Given the description of an element on the screen output the (x, y) to click on. 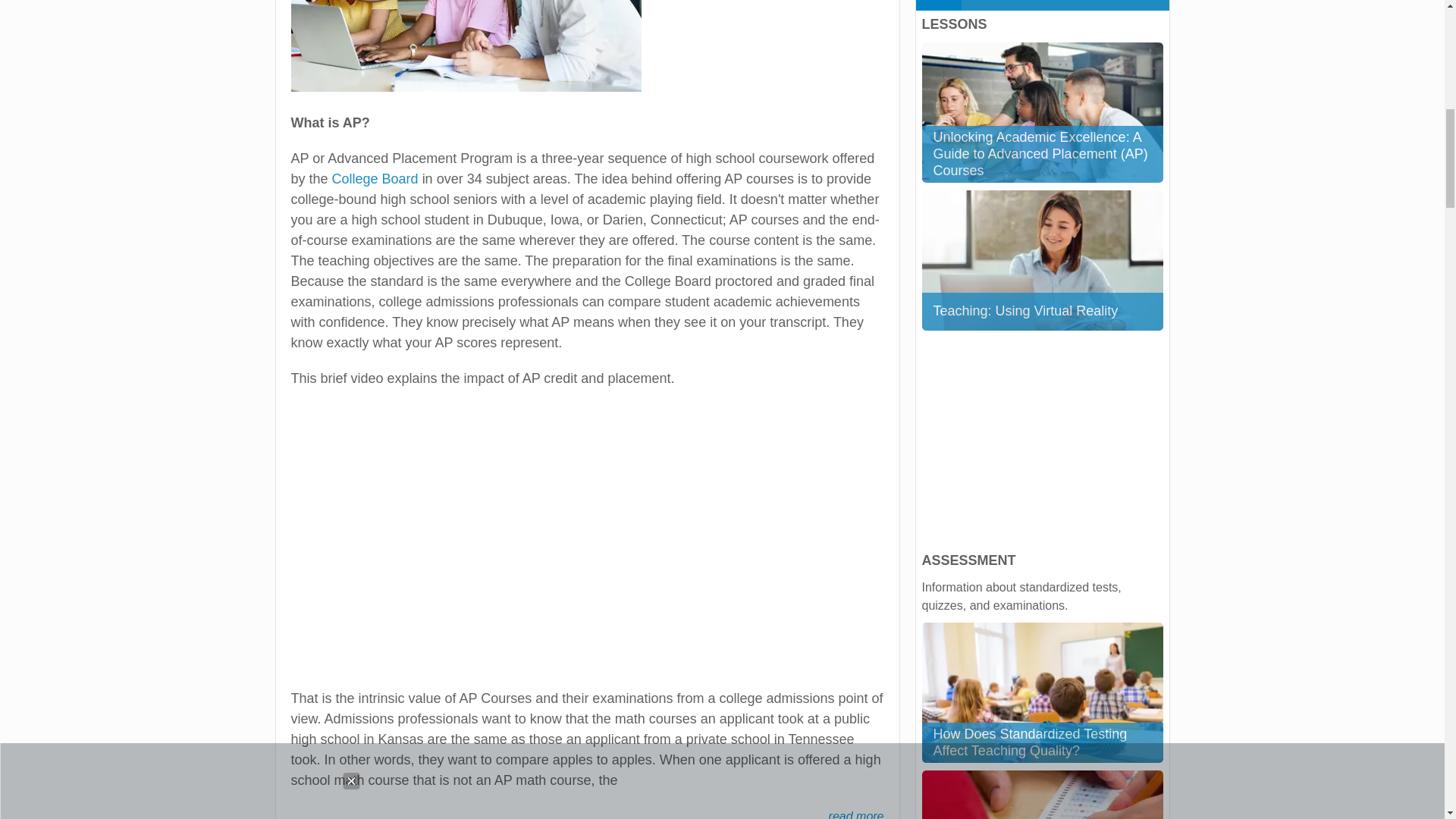
Teaching: Using Virtual Reality (1042, 260)
read more (855, 813)
College Board (376, 178)
How Does Standardized Testing Affect Teaching Quality?  (1042, 692)
The Truth about the Power of Standardized Test Scores (1042, 794)
